Given the description of an element on the screen output the (x, y) to click on. 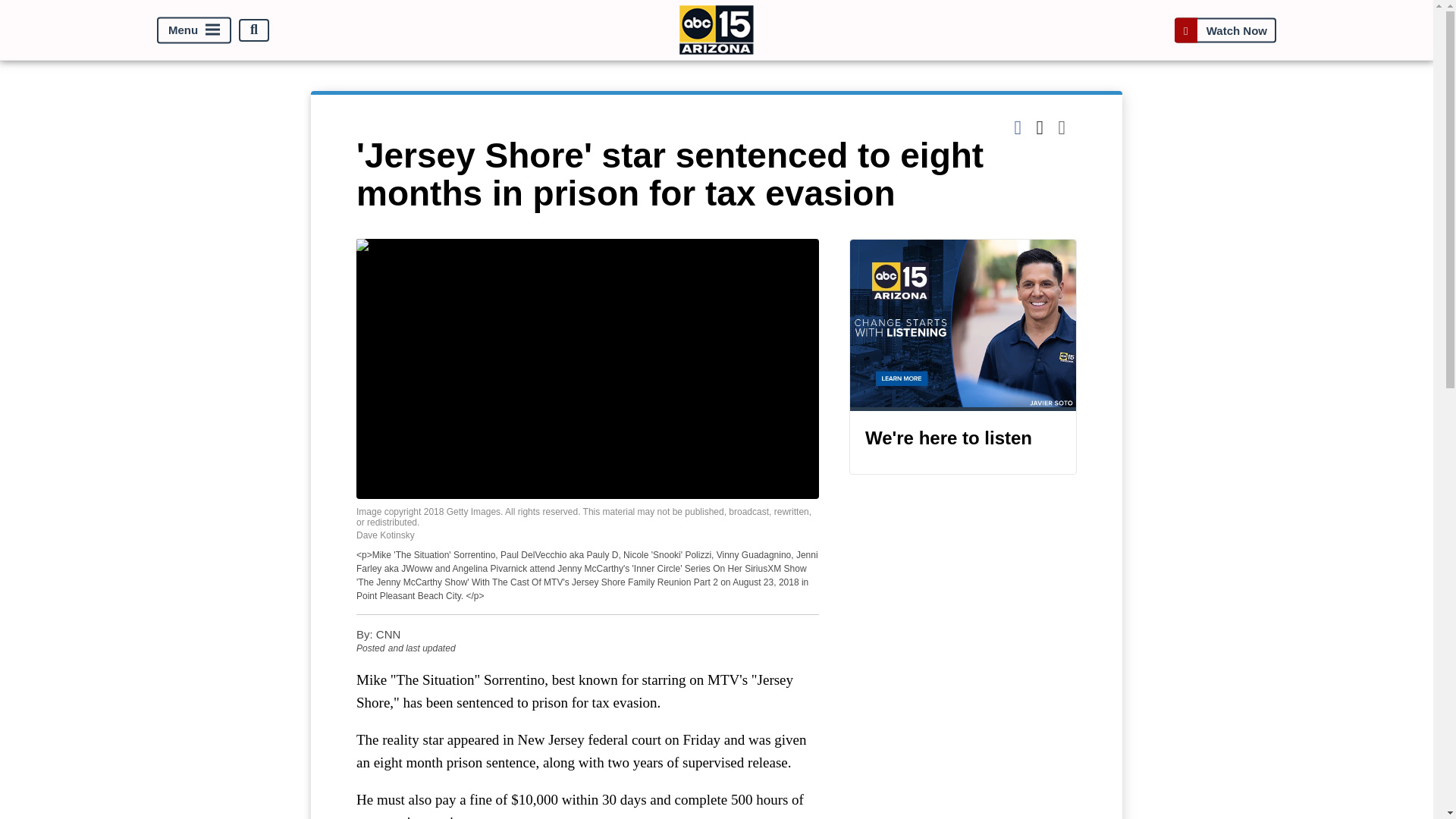
Watch Now (1224, 29)
Menu (194, 29)
